Given the description of an element on the screen output the (x, y) to click on. 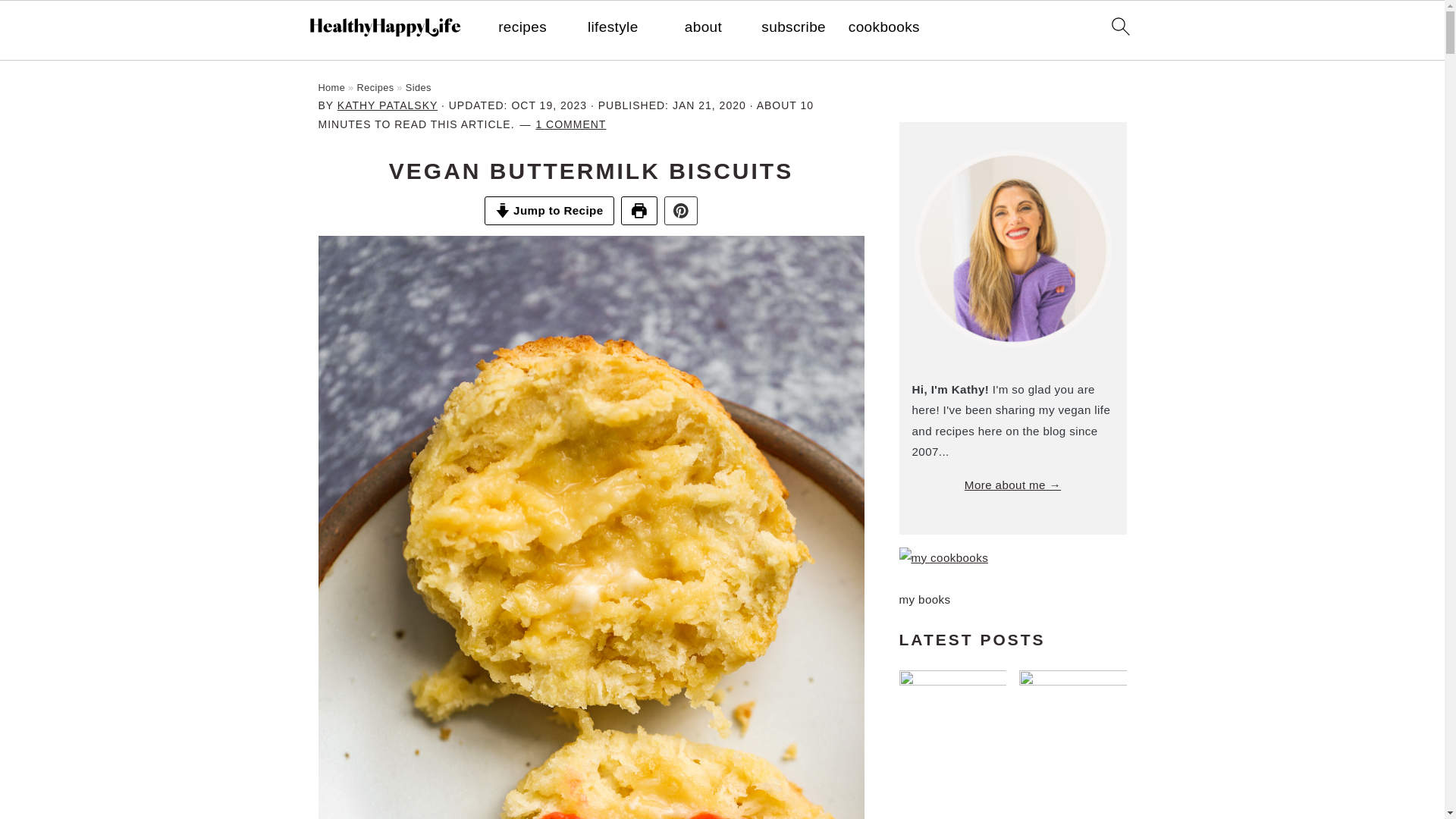
lifestyle (613, 27)
search icon (1119, 26)
about (703, 27)
subscribe (793, 27)
cookbooks (884, 27)
recipes (522, 27)
